Given the description of an element on the screen output the (x, y) to click on. 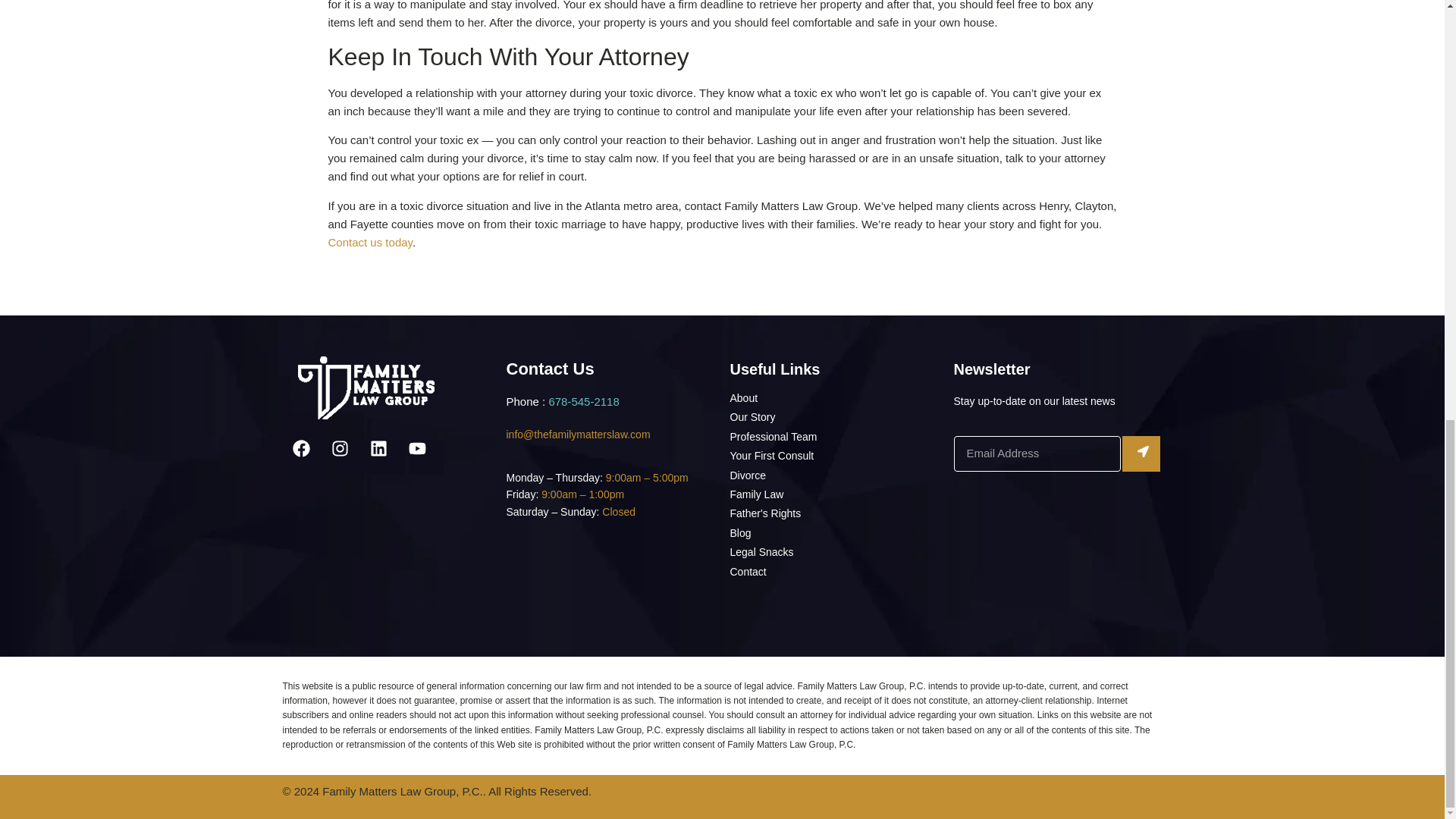
About (833, 398)
Closed (616, 511)
Our Story (833, 417)
678-545-2118 (583, 400)
Contact us today (369, 241)
